Given the description of an element on the screen output the (x, y) to click on. 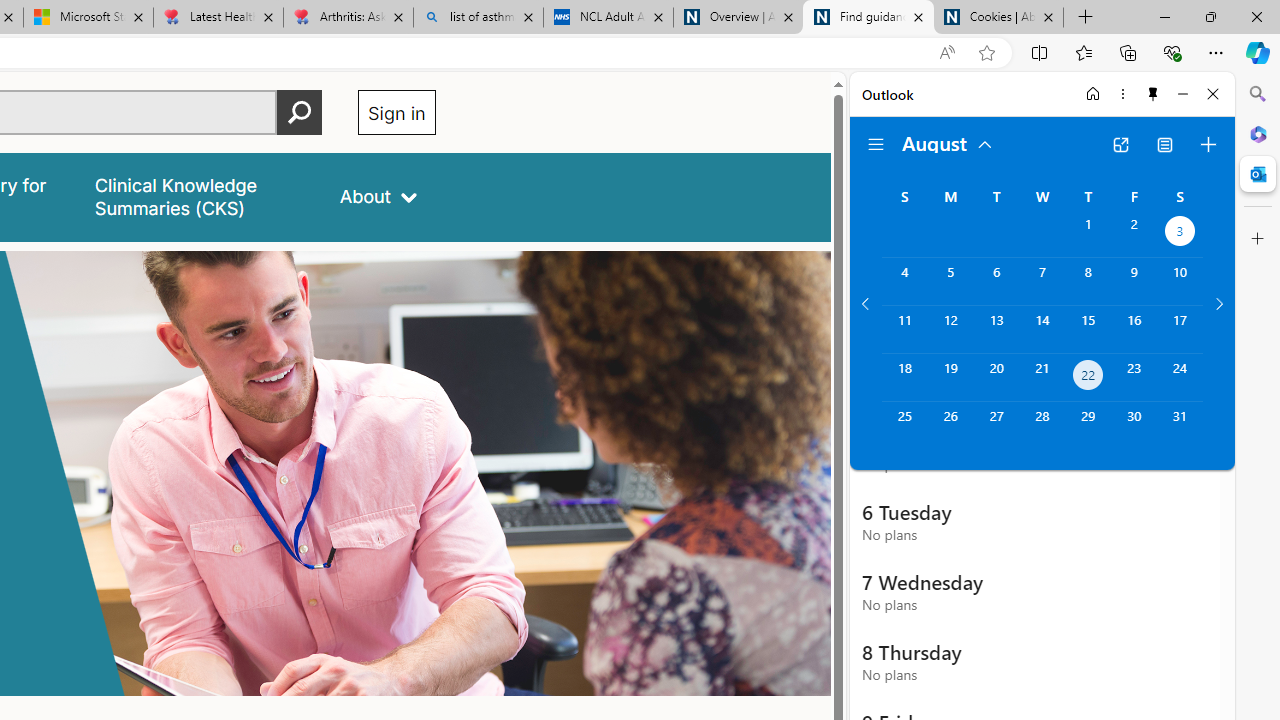
About (378, 196)
Friday, August 9, 2024.  (1134, 281)
Thursday, August 22, 2024. Today.  (1088, 377)
Saturday, August 31, 2024.  (1180, 425)
list of asthma inhalers uk - Search (477, 17)
Thursday, August 1, 2024.  (1088, 233)
Tuesday, August 13, 2024.  (996, 329)
Close Customize pane (1258, 239)
Wednesday, August 7, 2024.  (1042, 281)
Sunday, August 25, 2024.  (904, 425)
